Given the description of an element on the screen output the (x, y) to click on. 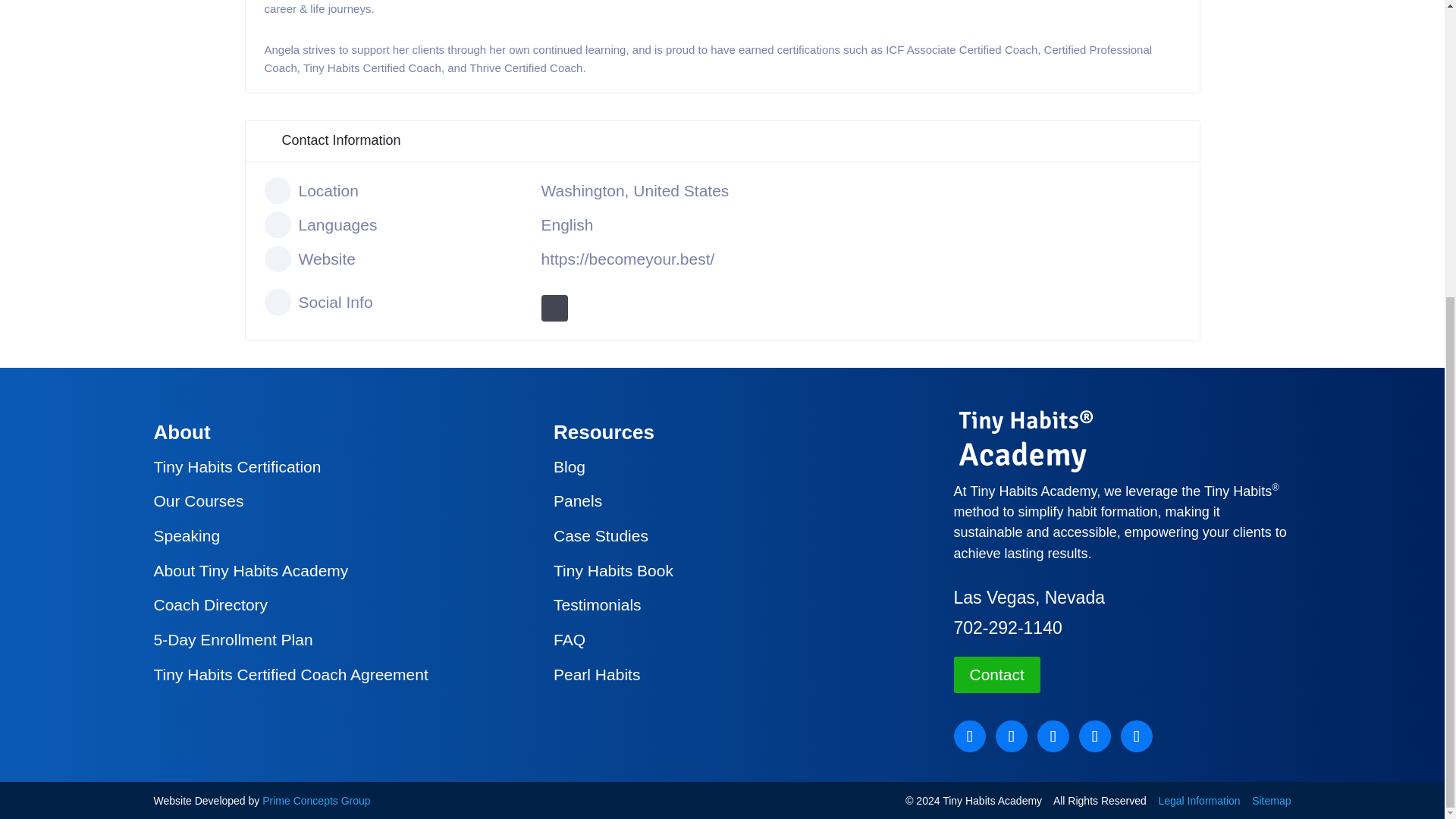
Follow on LinkedIn (1093, 736)
THA Logo White (1025, 441)
Follow on Facebook (969, 736)
Follow on Instagram (1137, 736)
Follow on Youtube (1052, 736)
Follow on X (1010, 736)
